Given the description of an element on the screen output the (x, y) to click on. 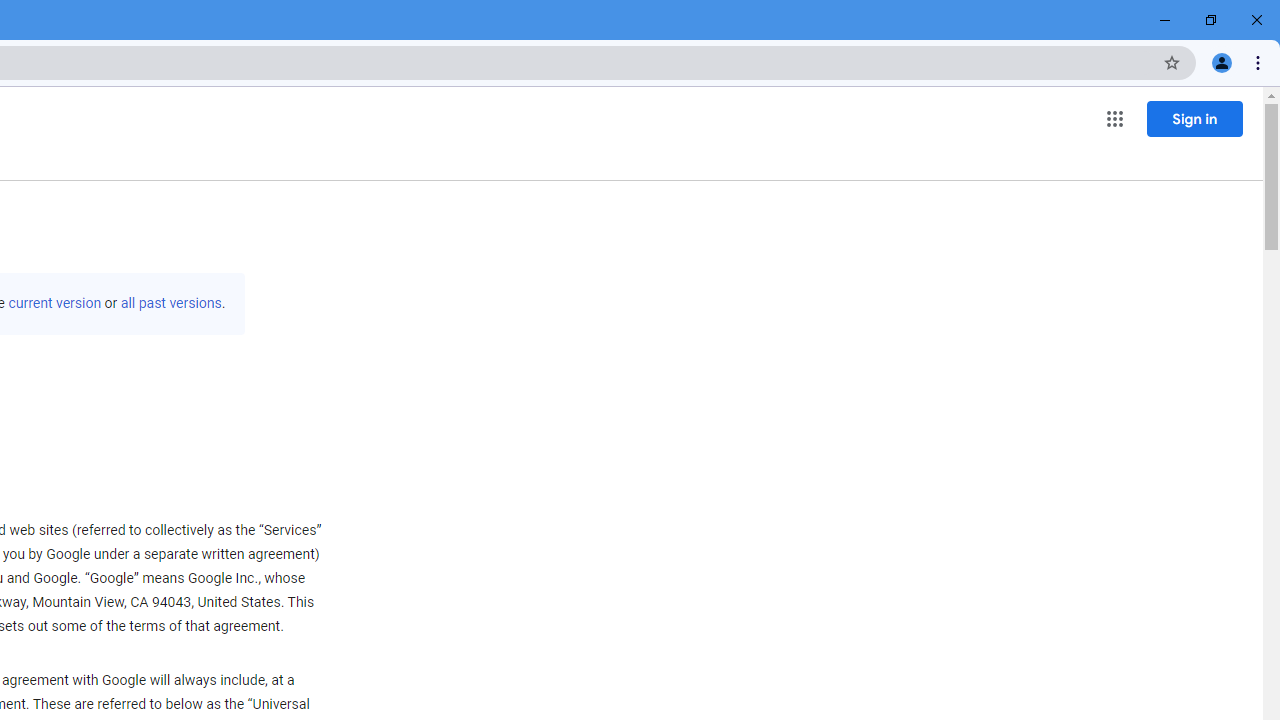
current version (54, 303)
all past versions (170, 303)
